Given the description of an element on the screen output the (x, y) to click on. 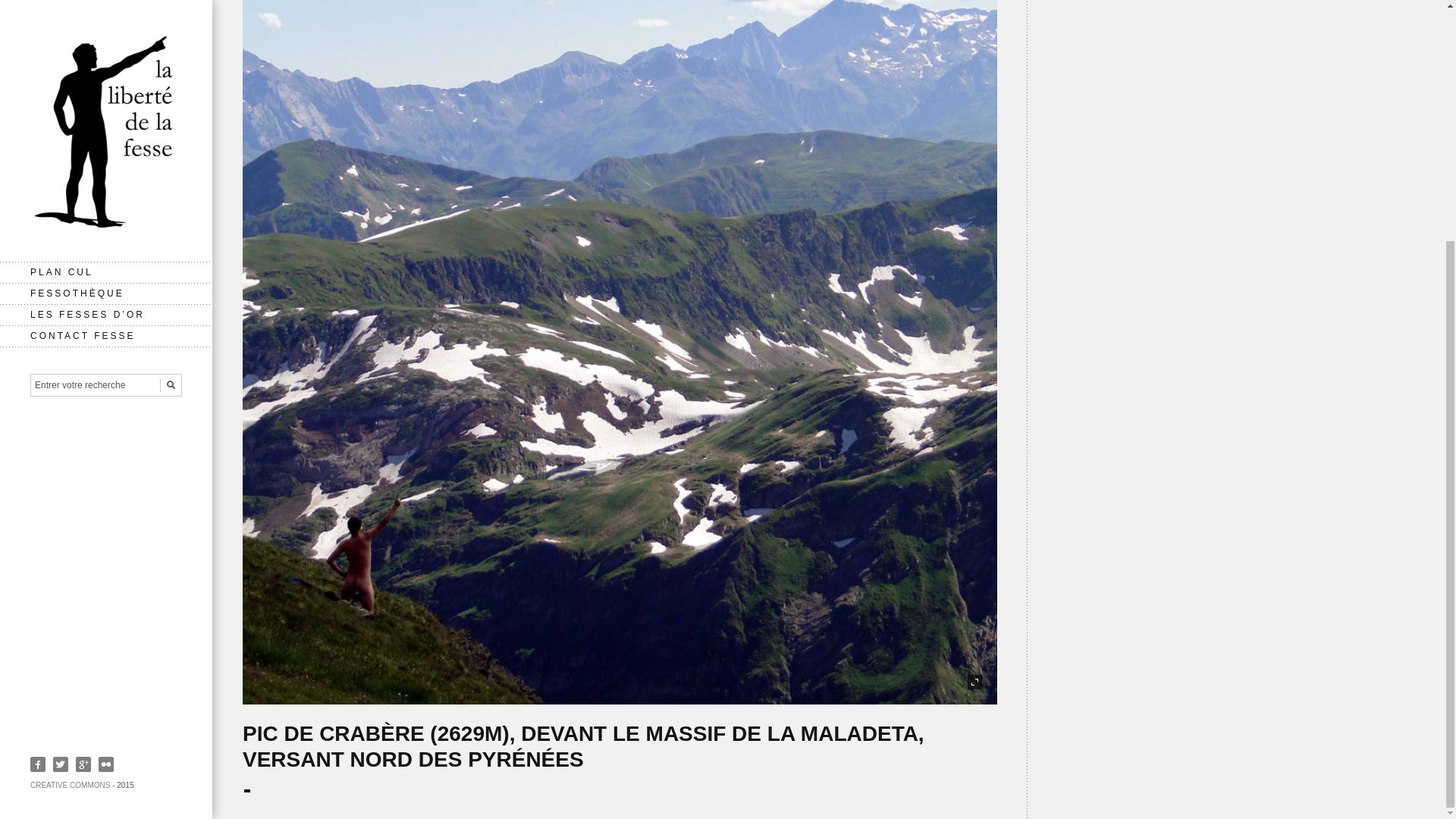
Flickr (106, 432)
Entrer votre recherche (106, 52)
Google (82, 432)
CONTACT FESSE (106, 7)
Facebook (37, 432)
Twitter (60, 432)
CREATIVE COMMONS (70, 452)
